Given the description of an element on the screen output the (x, y) to click on. 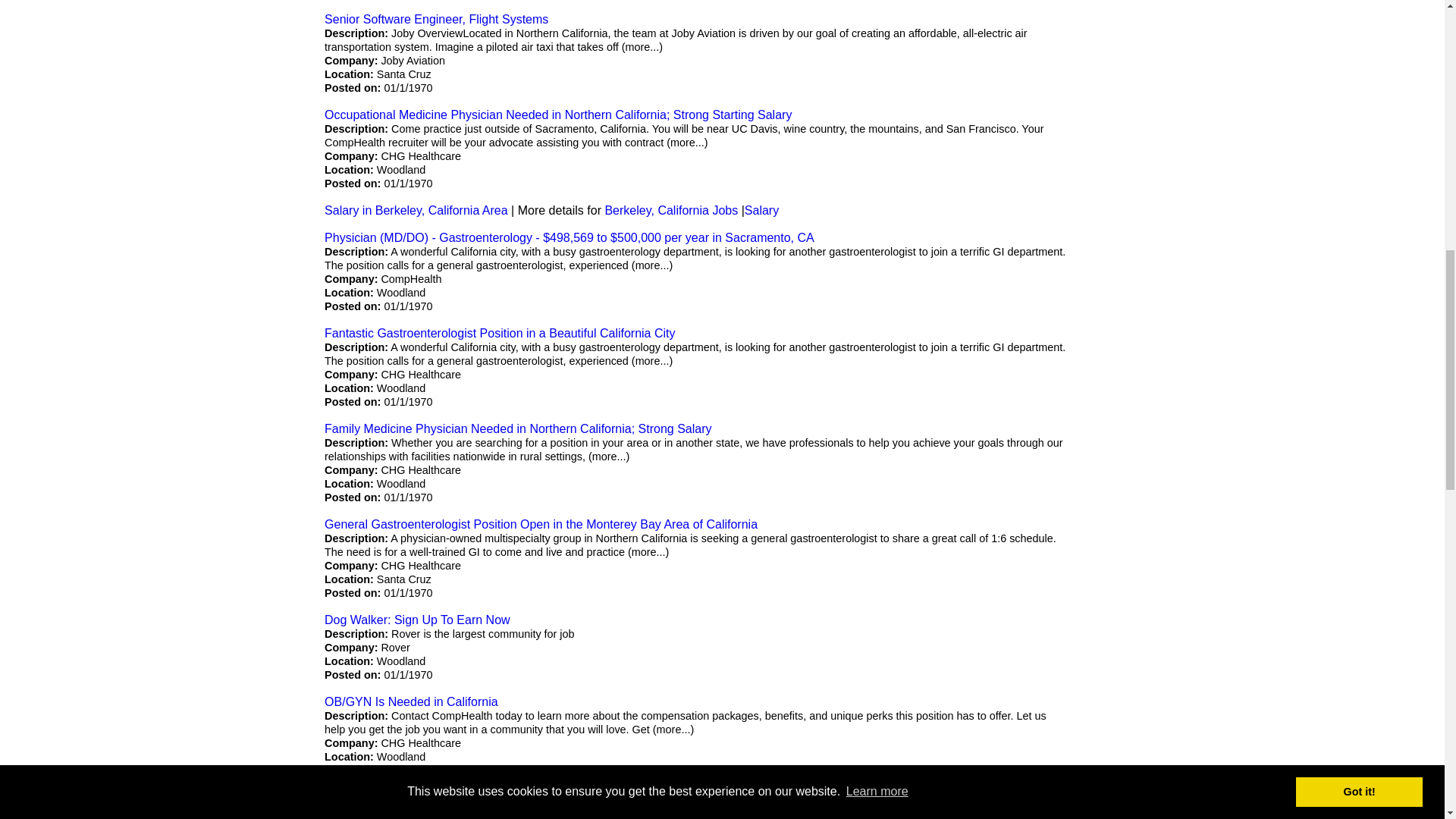
Senior Software Engineer, Flight Systems (436, 19)
Salary (761, 210)
Salary in Berkeley, California Area (416, 210)
Berkeley, California Jobs (671, 210)
Dog Walker: Sign Up To Earn Now (417, 619)
Senior Software Engineer, Flight Systems (436, 19)
Shift Manager Store 0922 (393, 797)
